Given the description of an element on the screen output the (x, y) to click on. 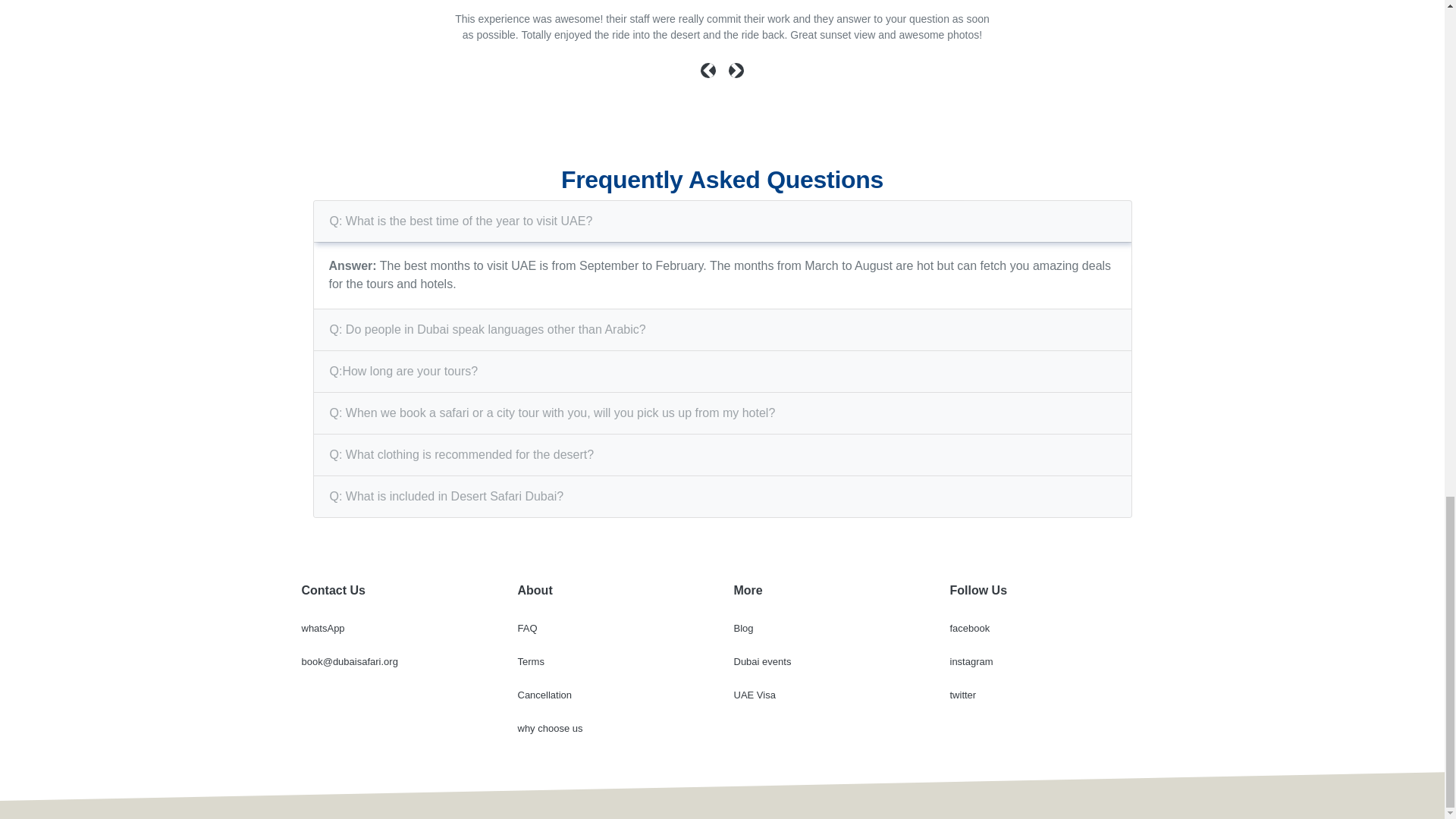
Previous (709, 78)
FAQ (526, 627)
Q: Do people in Dubai speak languages other than Arabic? (488, 329)
Cancellation (544, 695)
Q: What is the best time of the year to visit UAE? (461, 221)
Q: What is included in Desert Safari Dubai? (446, 496)
Q: What clothing is recommended for the desert? (462, 454)
Q:How long are your tours? (403, 371)
whatsApp (323, 627)
Next (735, 78)
Terms (529, 661)
